Given the description of an element on the screen output the (x, y) to click on. 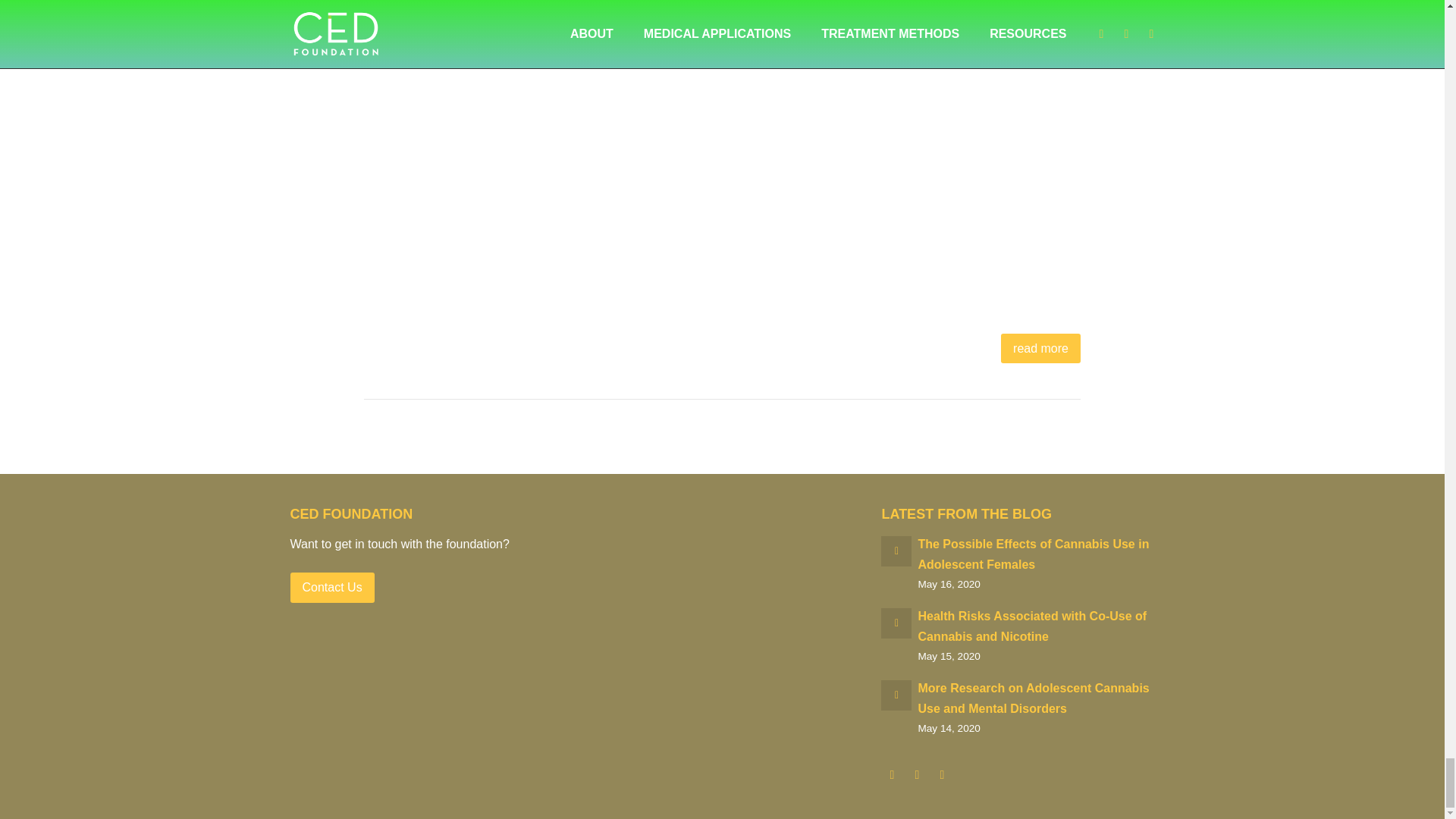
Health Risks Associated with Co-Use of Cannabis and Nicotine (1032, 625)
The Possible Effects of Cannabis Use in Adolescent Females (1032, 553)
